Given the description of an element on the screen output the (x, y) to click on. 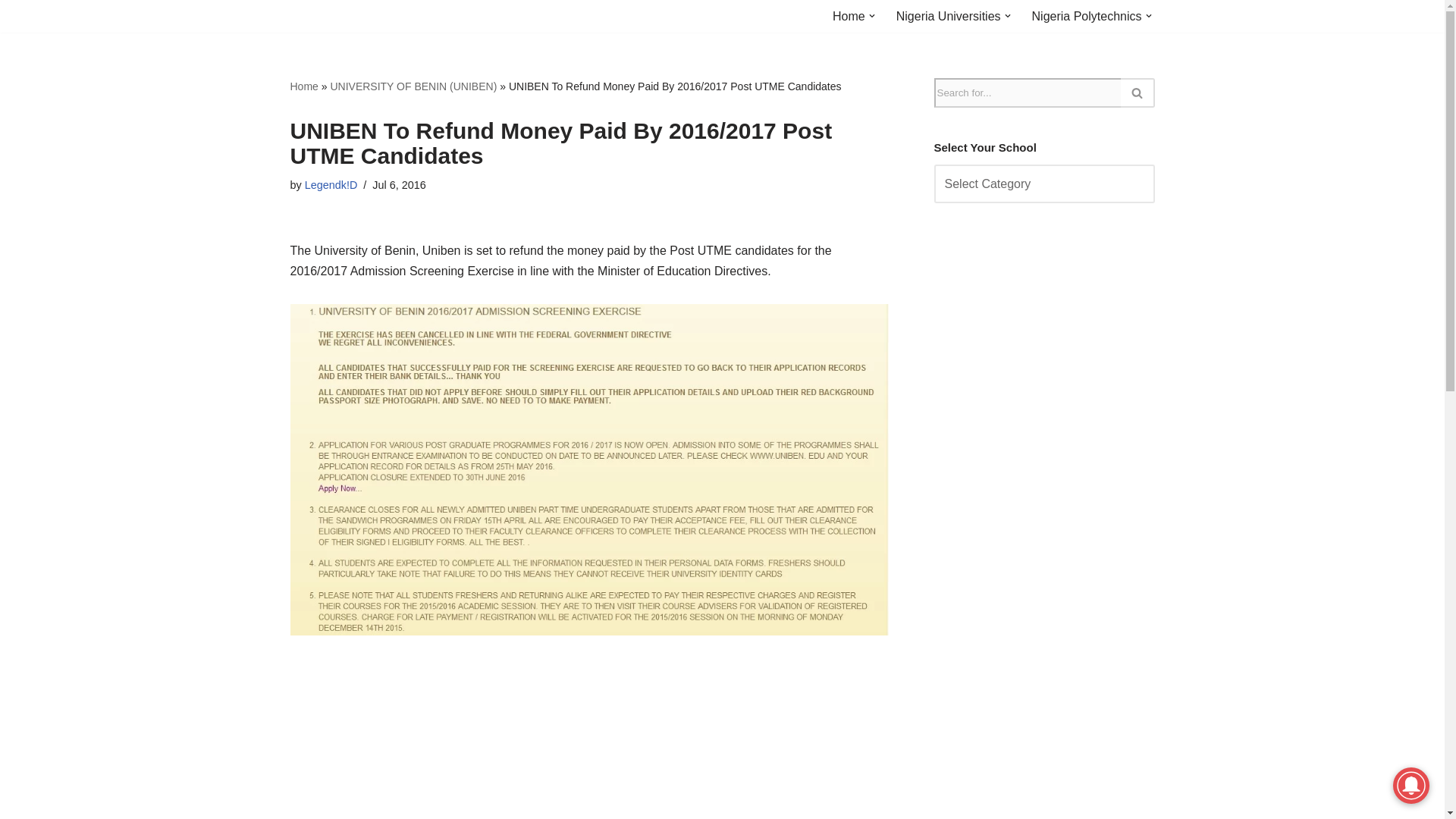
Home (848, 15)
Posts by Legendk!D (331, 184)
Skip to content (11, 31)
Nigeria Universities (948, 15)
Nigeria Polytechnics (1086, 15)
